Given the description of an element on the screen output the (x, y) to click on. 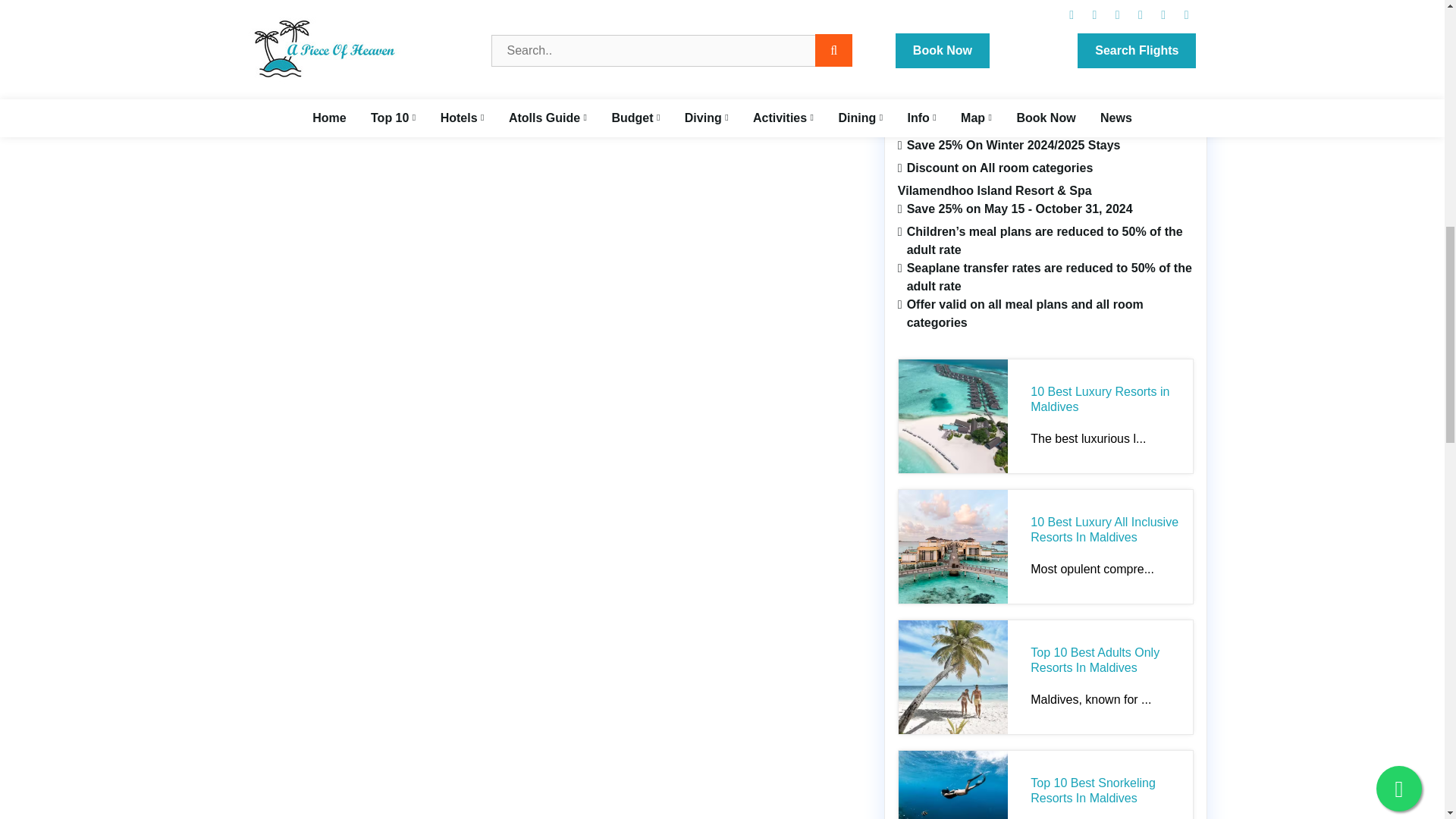
expedia.com - Resorts (957, 0)
